Given the description of an element on the screen output the (x, y) to click on. 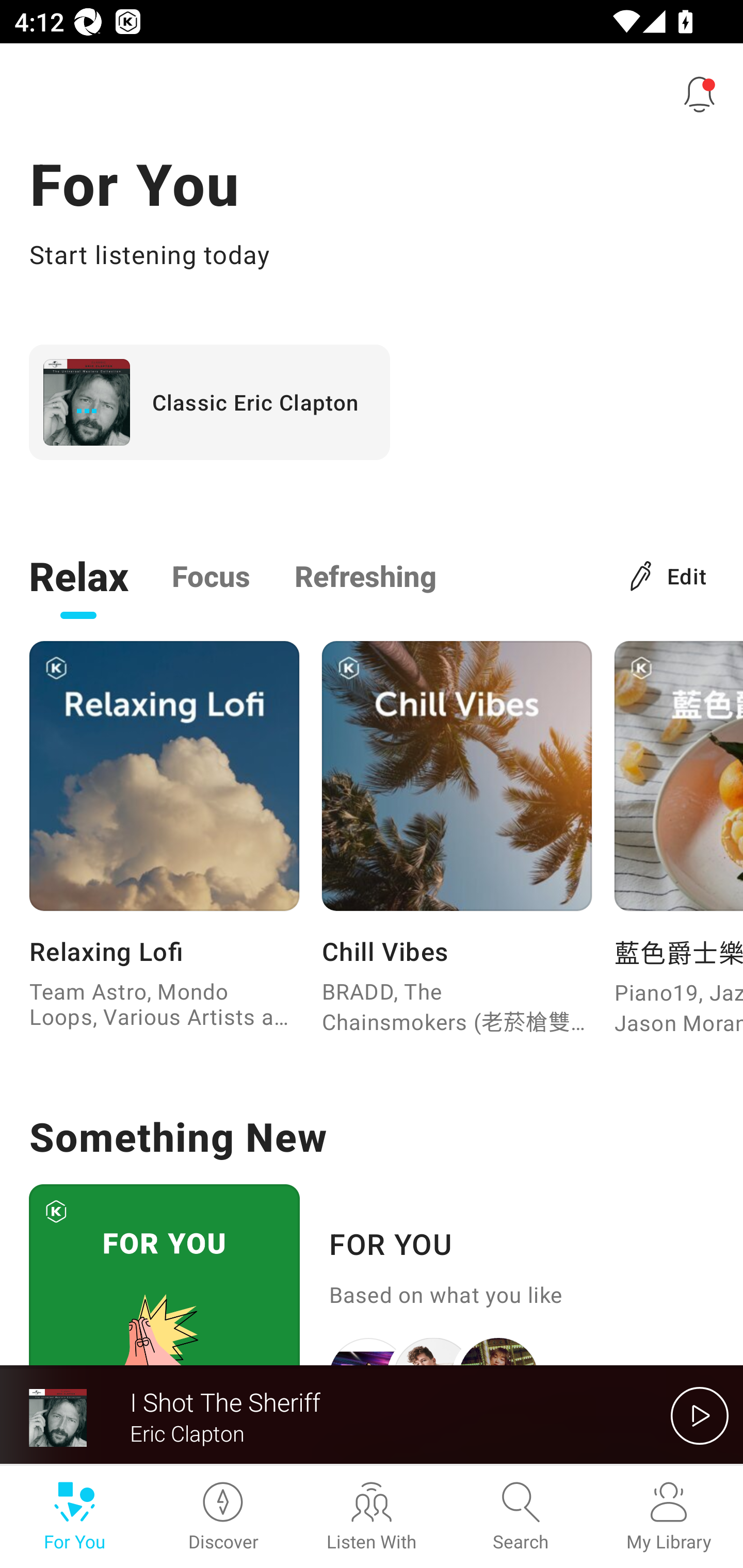
Notification (699, 93)
view_image Classic Eric Clapton (209, 401)
Focus (211, 575)
Refreshing (365, 575)
Edit (668, 575)
開始播放 (699, 1415)
For You (74, 1517)
Discover (222, 1517)
Listen With (371, 1517)
Search (519, 1517)
My Library (668, 1517)
